Given the description of an element on the screen output the (x, y) to click on. 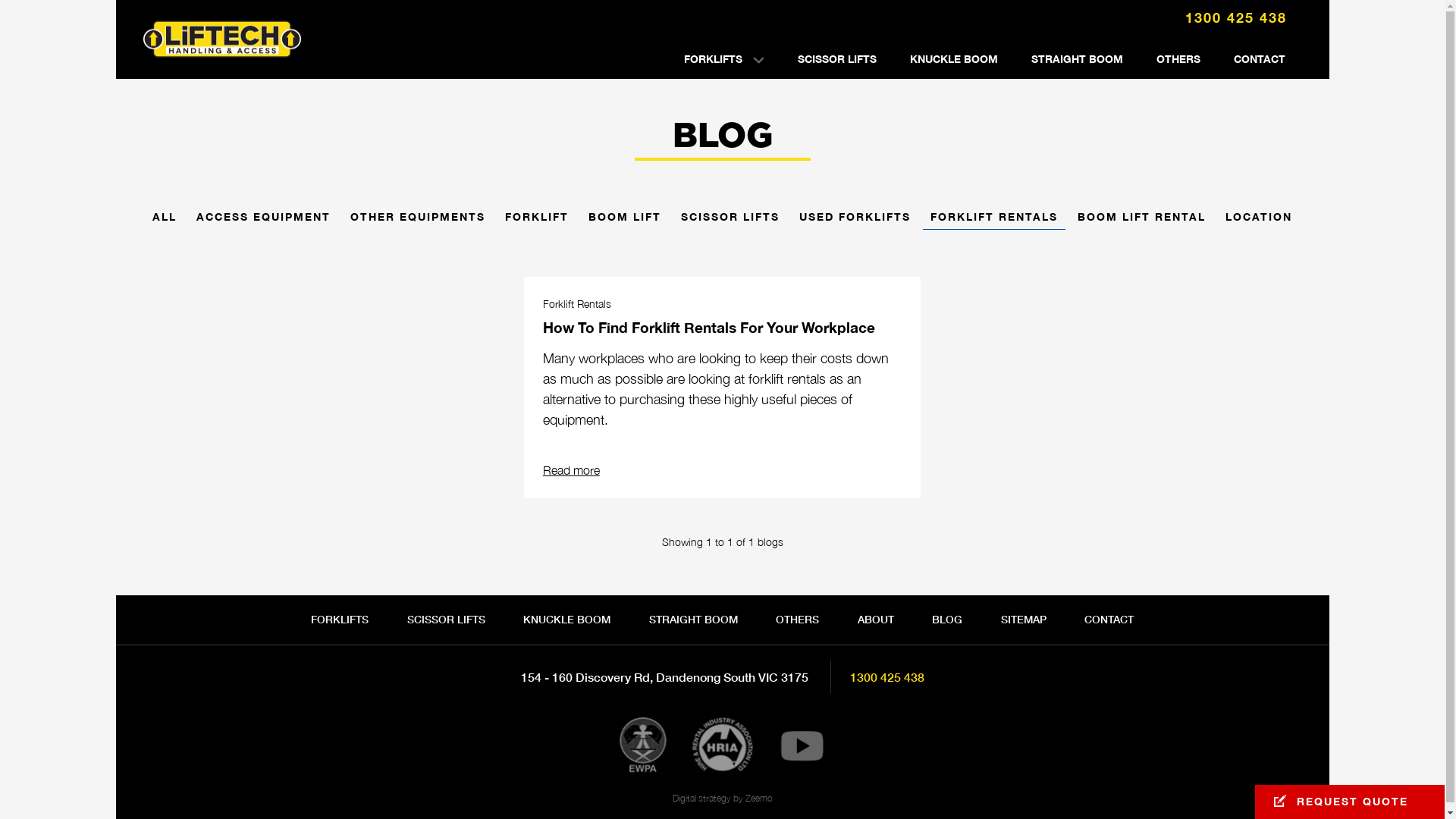
KNUCKLE BOOM Element type: text (953, 58)
CONTACT Element type: text (1108, 619)
LOCATION Element type: text (1258, 219)
OTHER EQUIPMENTS Element type: text (417, 219)
USED FORKLIFTS Element type: text (854, 219)
ABOUT Element type: text (874, 619)
OTHERS Element type: text (1177, 58)
How To Find Forklift Rentals For Your Workplace Element type: text (708, 327)
ACCESS EQUIPMENT Element type: text (263, 219)
BLOG Element type: text (946, 619)
CONTACT Element type: text (1258, 58)
OTHERS Element type: text (797, 619)
FORKLIFTS Element type: text (724, 58)
SCISSOR LIFTS Element type: text (445, 619)
STRAIGHT BOOM Element type: text (1076, 58)
SITEMAP Element type: text (1023, 619)
Zeemo Element type: text (757, 797)
1300 425 438 Element type: text (886, 676)
ALL Element type: text (164, 219)
FORKLIFTS Element type: text (339, 619)
Read more Element type: text (570, 469)
FORKLIFT RENTALS Element type: text (993, 219)
BOOM LIFT RENTAL Element type: text (1141, 219)
BOOM LIFT Element type: text (624, 219)
SCISSOR LIFTS Element type: text (837, 58)
STRAIGHT BOOM Element type: text (693, 619)
FORKLIFT Element type: text (536, 219)
SCISSOR LIFTS Element type: text (730, 219)
KNUCKLE BOOM Element type: text (566, 619)
